Given the description of an element on the screen output the (x, y) to click on. 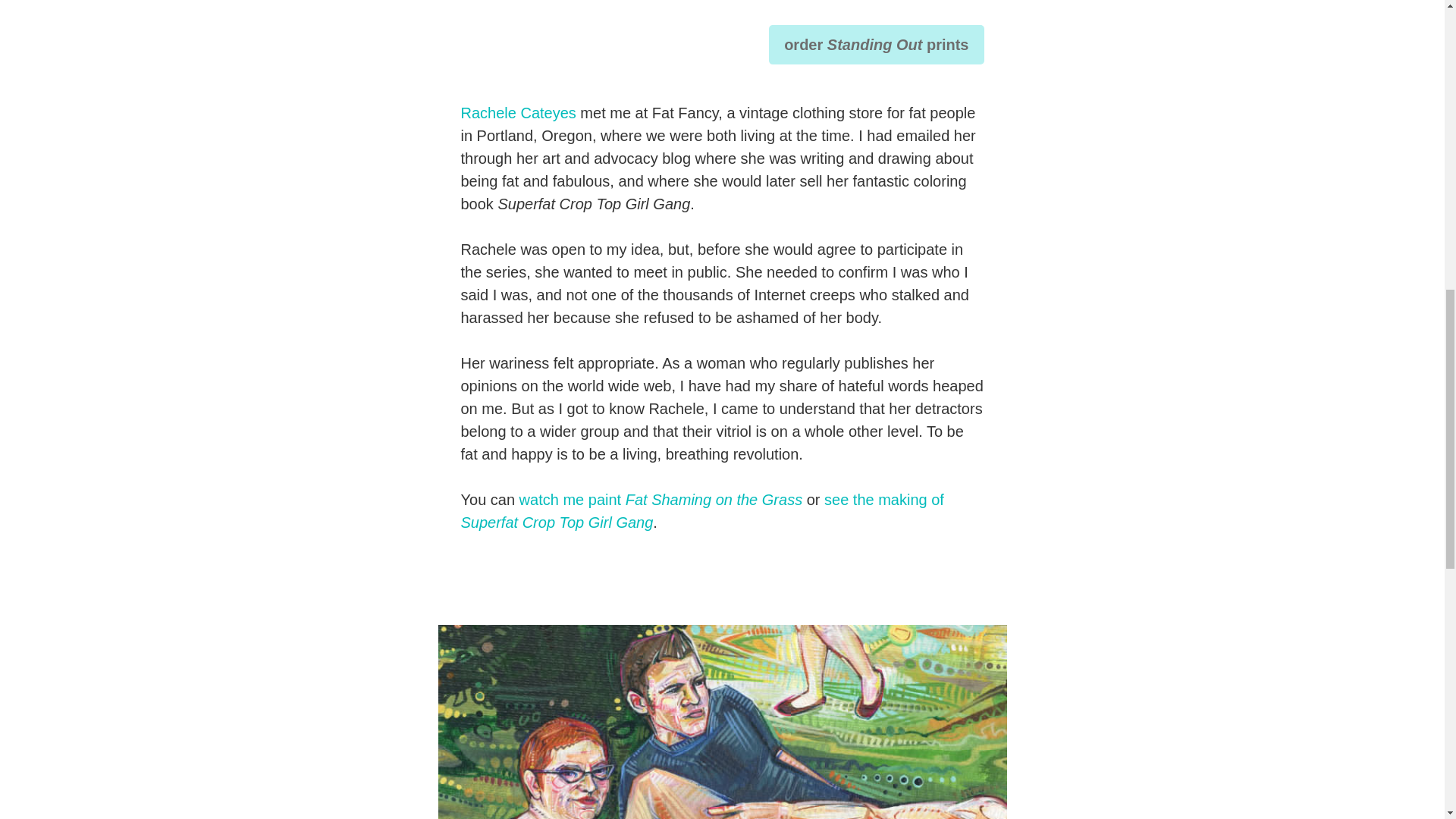
Rachele Cateyes (518, 112)
